Given the description of an element on the screen output the (x, y) to click on. 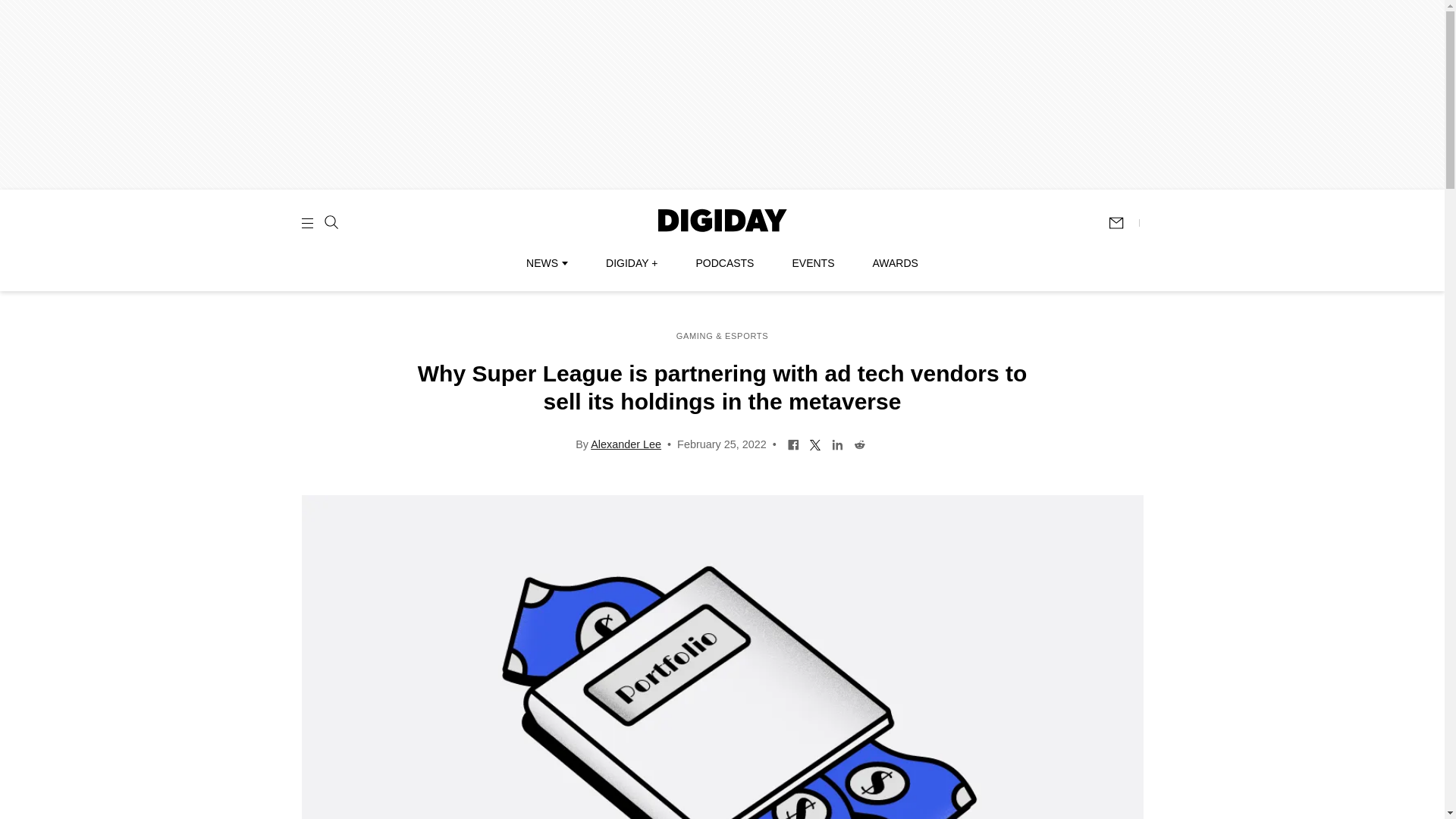
NEWS (546, 262)
EVENTS (813, 262)
Subscribe (1123, 223)
Share on Facebook (793, 443)
Share on LinkedIn (837, 443)
PODCASTS (725, 262)
Share on Twitter (815, 443)
Share on Reddit (859, 443)
AWARDS (894, 262)
